Given the description of an element on the screen output the (x, y) to click on. 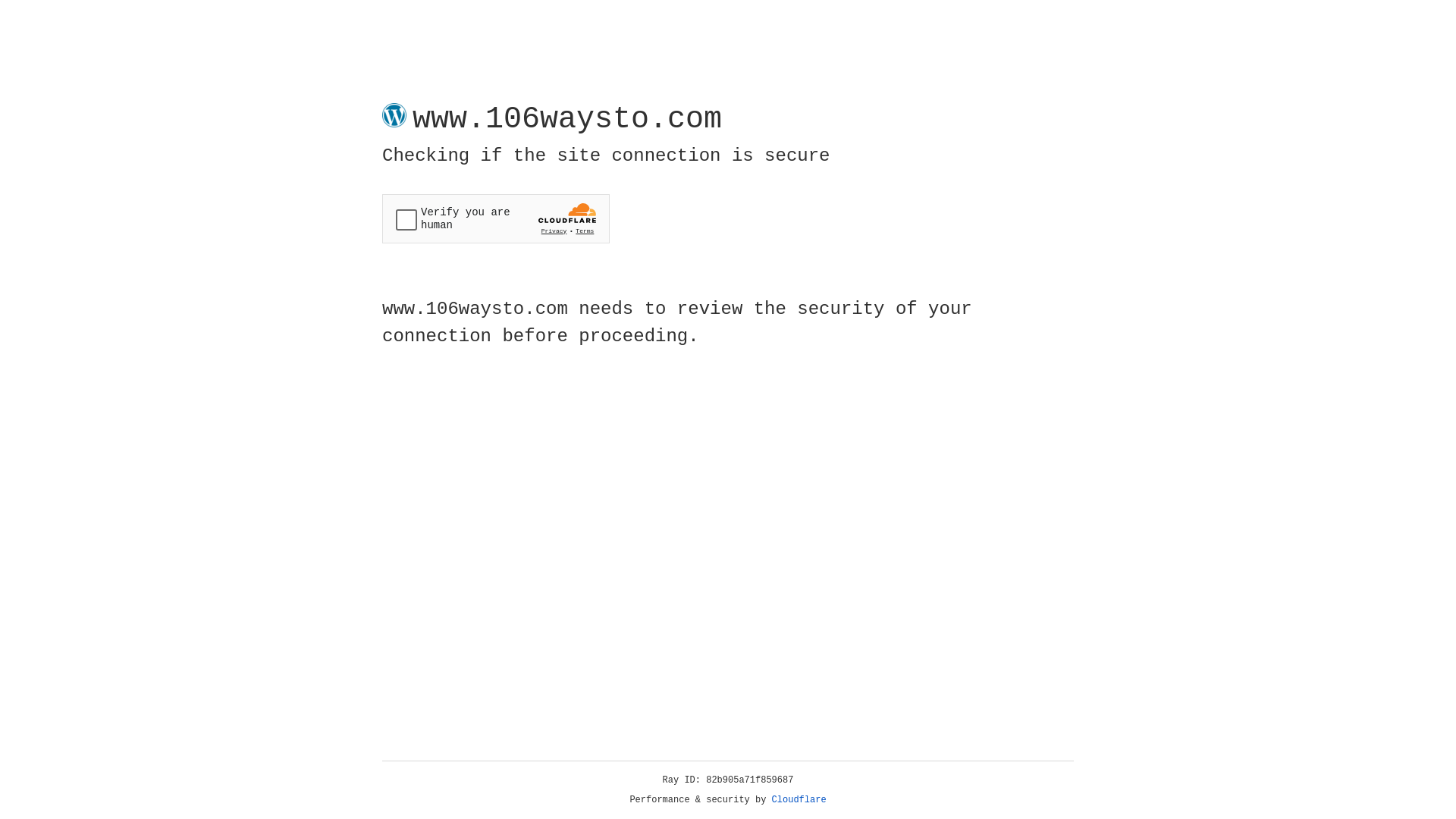
Cloudflare Element type: text (798, 799)
Widget containing a Cloudflare security challenge Element type: hover (495, 218)
